Given the description of an element on the screen output the (x, y) to click on. 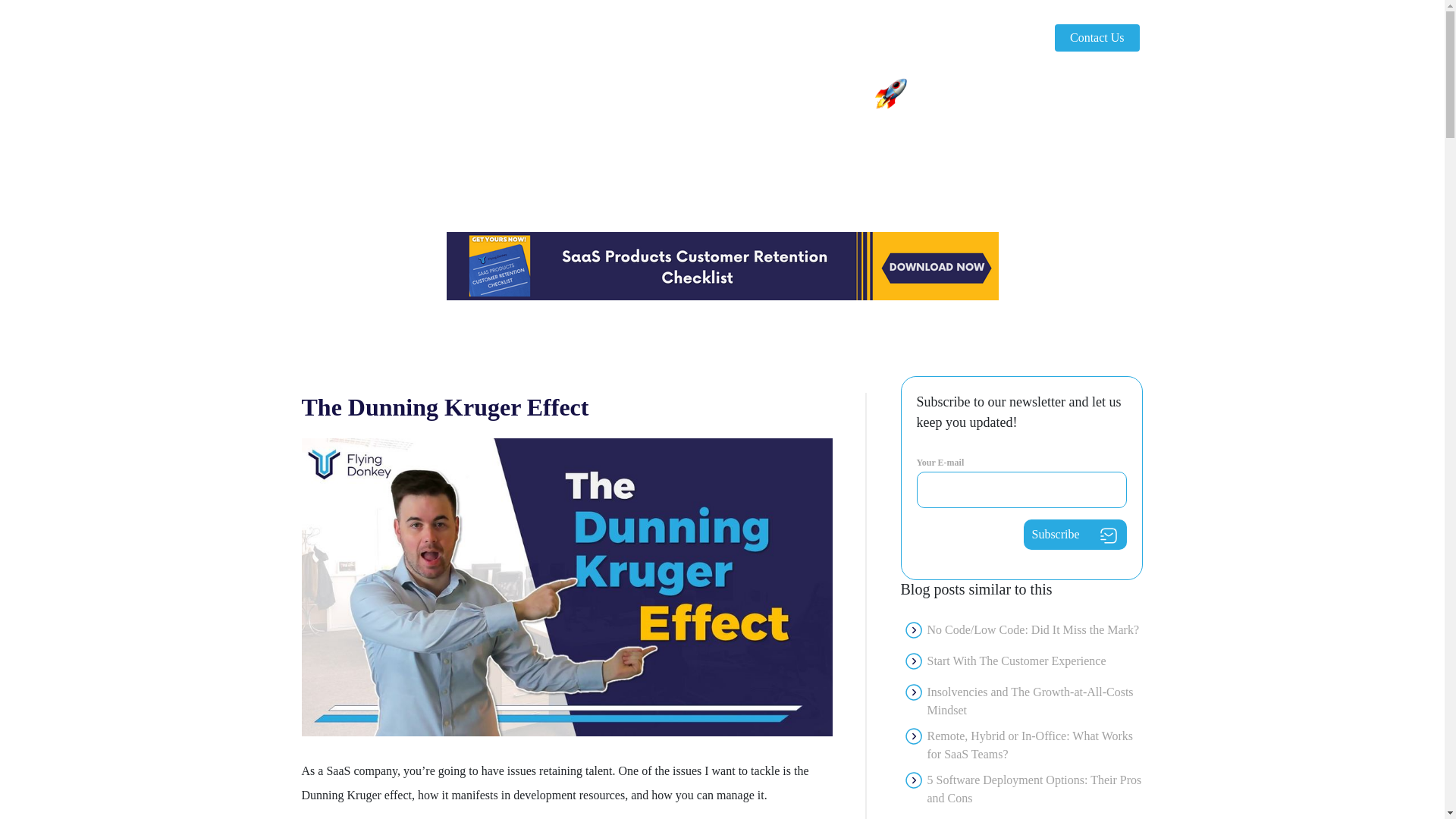
Start With The Customer Experience (1015, 663)
Subscribe (1074, 534)
Services (750, 37)
About Us (932, 37)
5 Software Deployment Options: Their Pros and Cons (1034, 789)
Case Studies (831, 37)
Blog (1012, 37)
Insolvencies and The Growth-at-All-Costs Mindset (1034, 701)
Contact Us (1097, 37)
Remote, Hybrid or In-Office: What Works for SaaS Teams? (1034, 745)
